Given the description of an element on the screen output the (x, y) to click on. 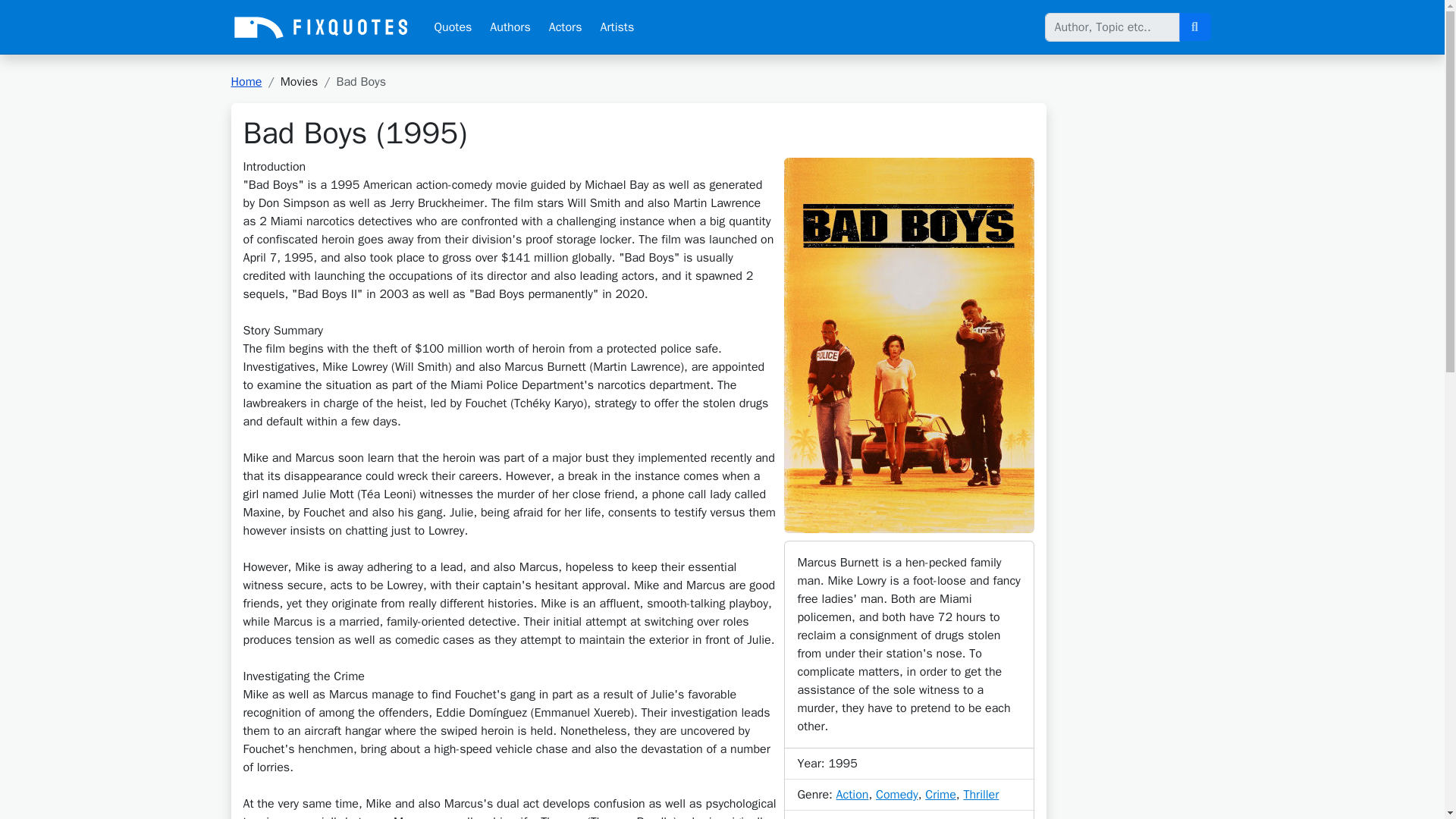
Authors (509, 27)
Artists (617, 27)
Action (852, 794)
Click to search (1193, 26)
Thriller (980, 794)
Home (246, 81)
Actors (565, 27)
Quotes (452, 27)
Comedy (897, 794)
Crime (940, 794)
